Given the description of an element on the screen output the (x, y) to click on. 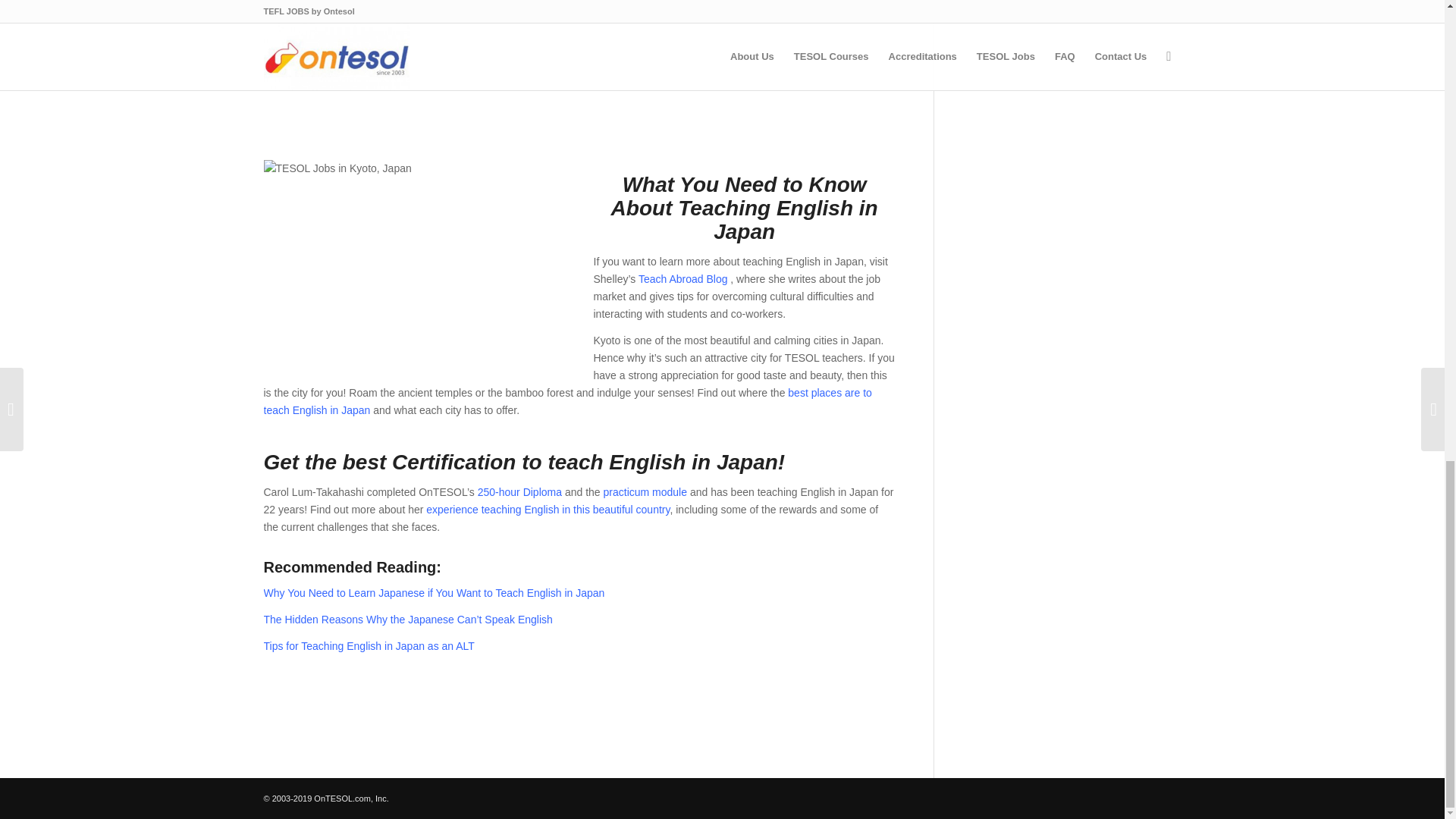
250-hour Diploma (520, 491)
experience teaching English in this beautiful country (547, 509)
Tips for Teaching English in Japan as an ALT (368, 645)
best places are to teach English in Japan (567, 401)
Teach Abroad Blog (683, 278)
practicum module (643, 491)
